Given the description of an element on the screen output the (x, y) to click on. 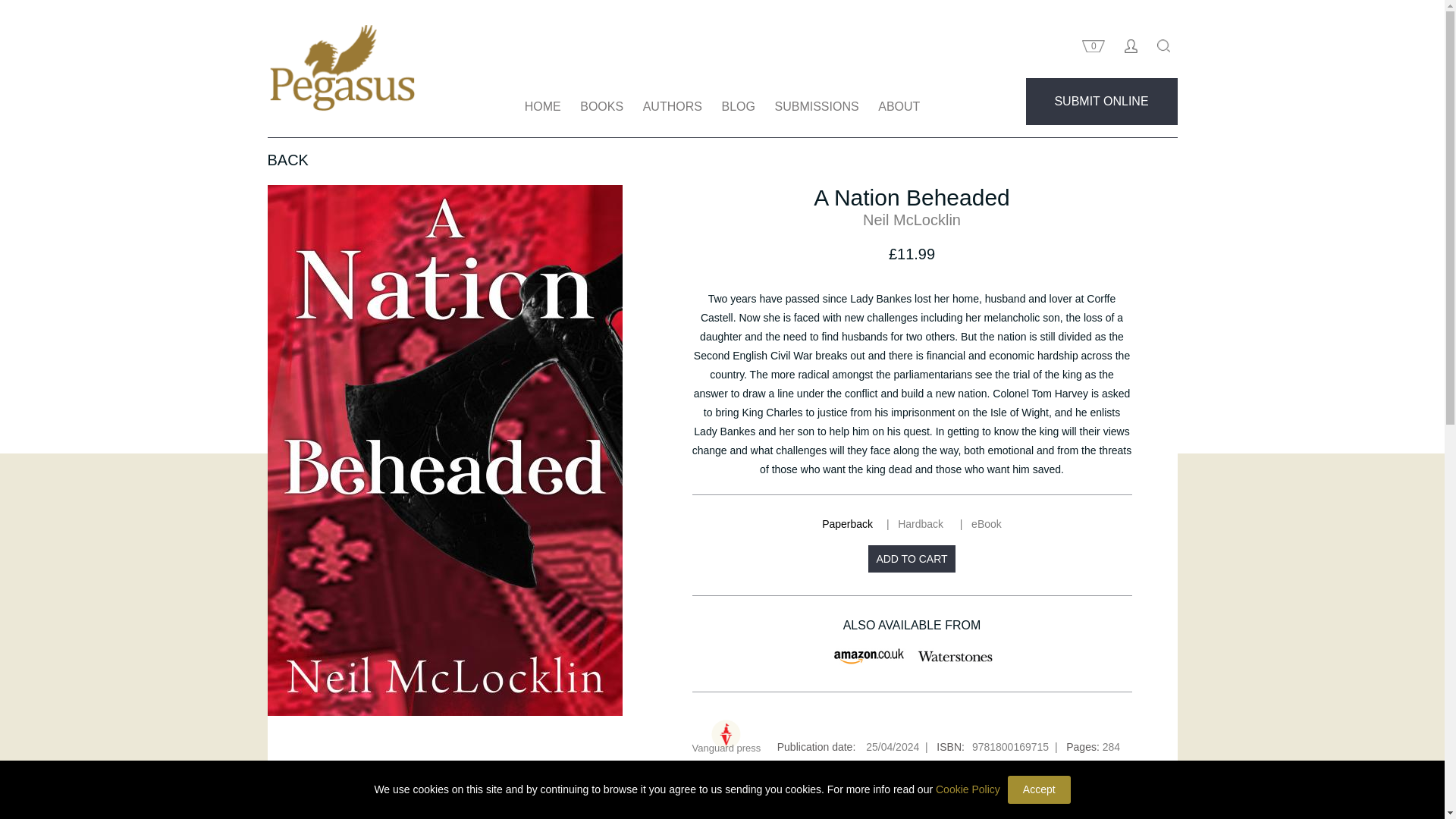
0 (1093, 48)
Cookie Policy (968, 789)
SUBMISSIONS (816, 106)
SUBMIT ONLINE (1100, 101)
BLOG (737, 106)
BOOKS (601, 106)
AUTHORS (672, 106)
HOME (542, 106)
ABOUT (898, 106)
Accept (1038, 789)
